Given the description of an element on the screen output the (x, y) to click on. 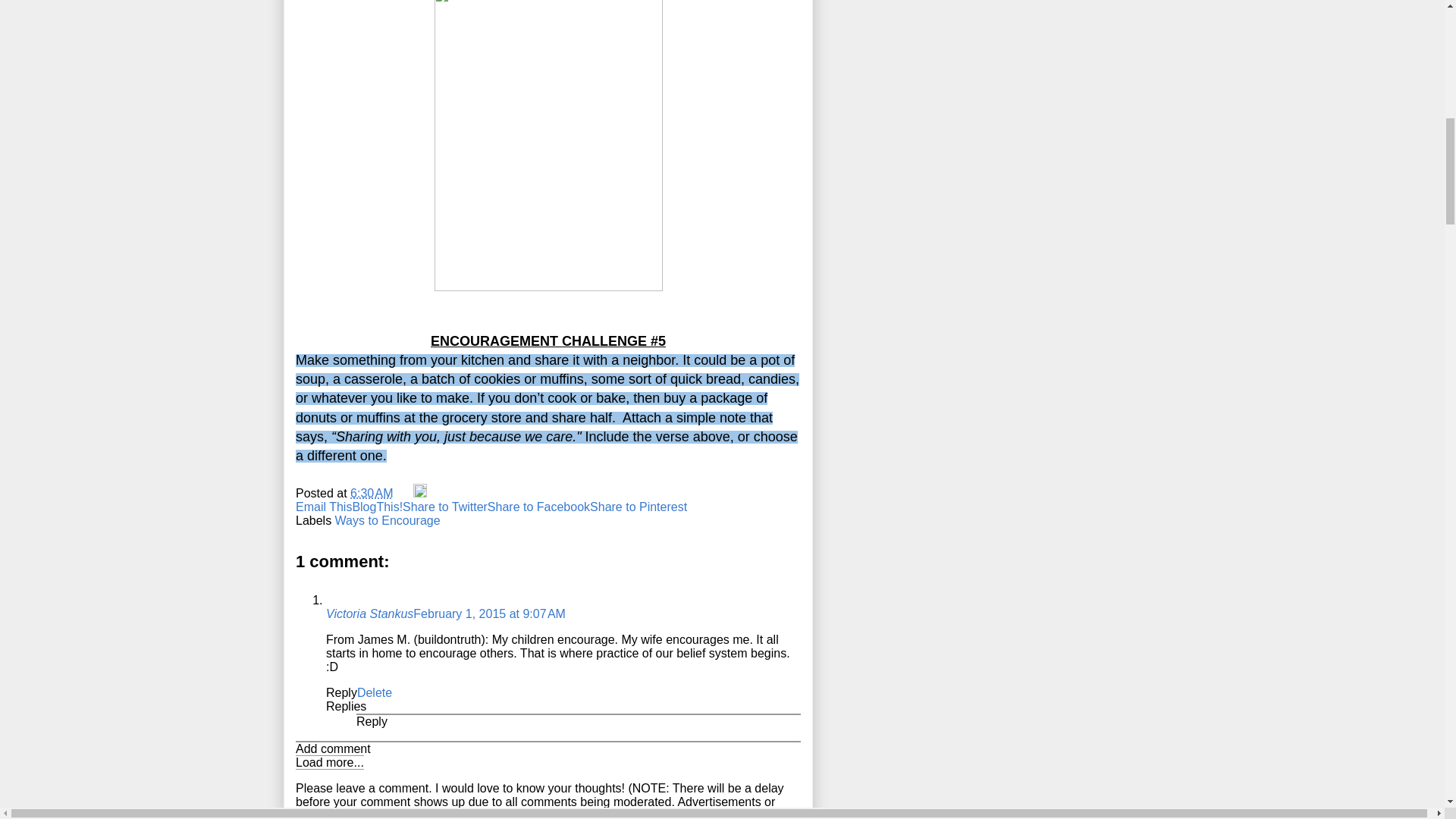
Email Post (404, 492)
Reply (371, 721)
Share to Twitter (445, 506)
Share to Facebook (538, 506)
Share to Twitter (445, 506)
Email This (323, 506)
BlogThis! (377, 506)
Share to Pinterest (638, 506)
Edit Post (419, 492)
Victoria Stankus (369, 613)
Share to Facebook (538, 506)
Email This (323, 506)
Share to Pinterest (638, 506)
